Given the description of an element on the screen output the (x, y) to click on. 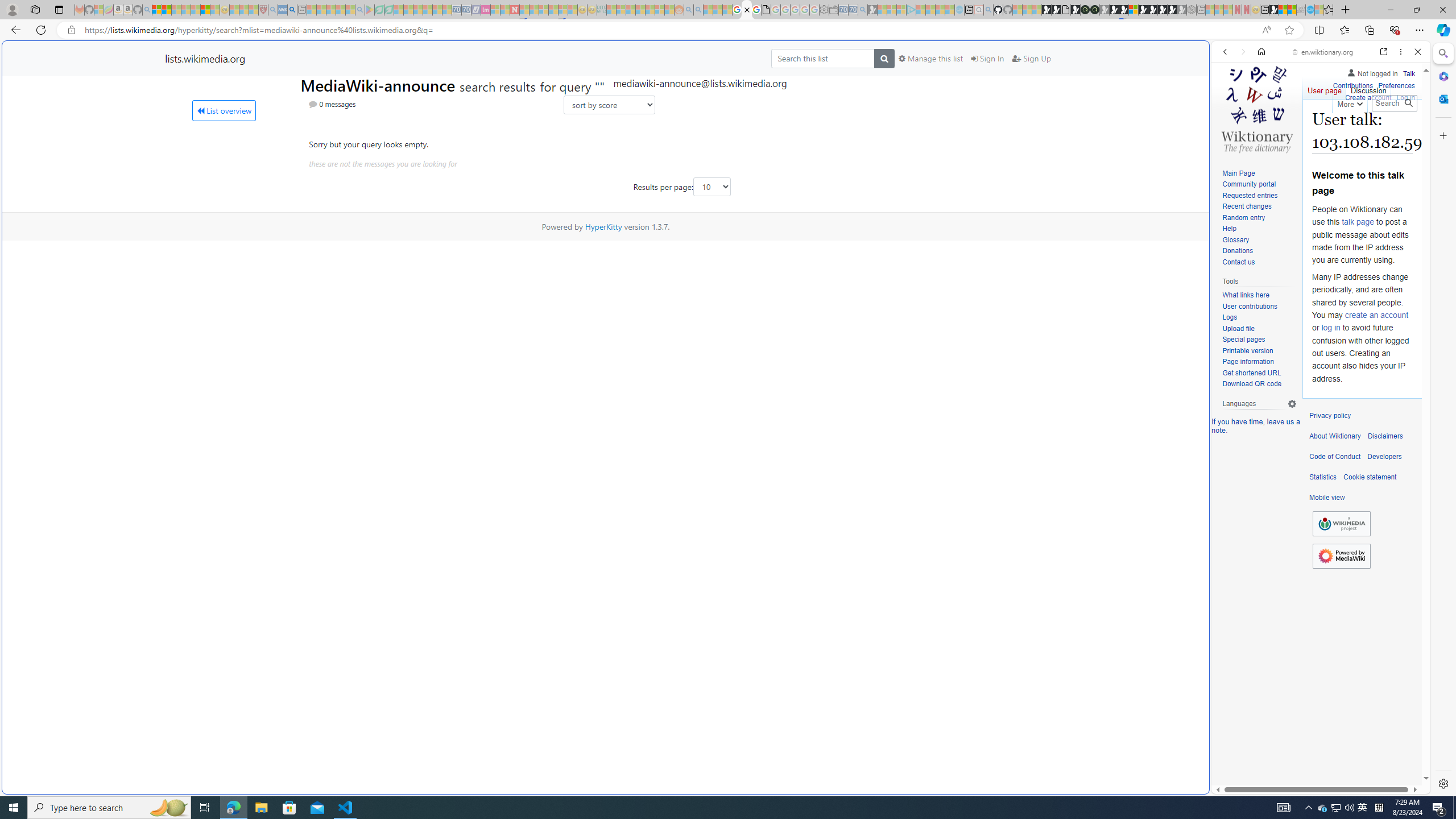
What links here (1245, 295)
Wikimedia Foundation (1341, 524)
Talk (1408, 71)
Log in (1405, 96)
Log in (1405, 98)
